Given the description of an element on the screen output the (x, y) to click on. 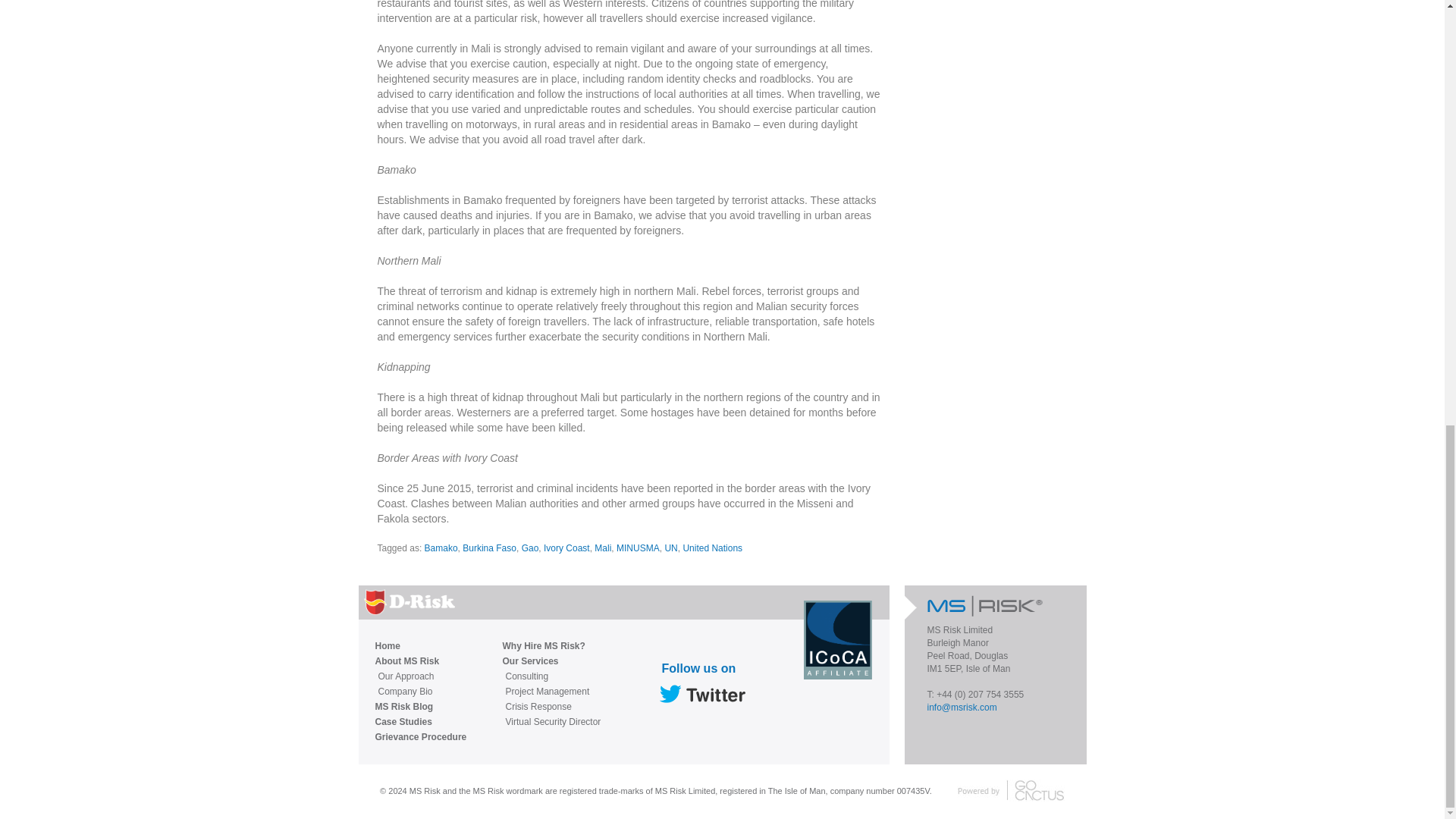
Our Approach (421, 676)
About MS Risk (419, 661)
Company Bio (421, 691)
Ivory Coast (566, 547)
Bamako (441, 547)
United Nations (712, 547)
Home (419, 645)
MINUSMA (637, 547)
UN (670, 547)
Mali (602, 547)
Gao (529, 547)
Burkina Faso (489, 547)
